Given the description of an element on the screen output the (x, y) to click on. 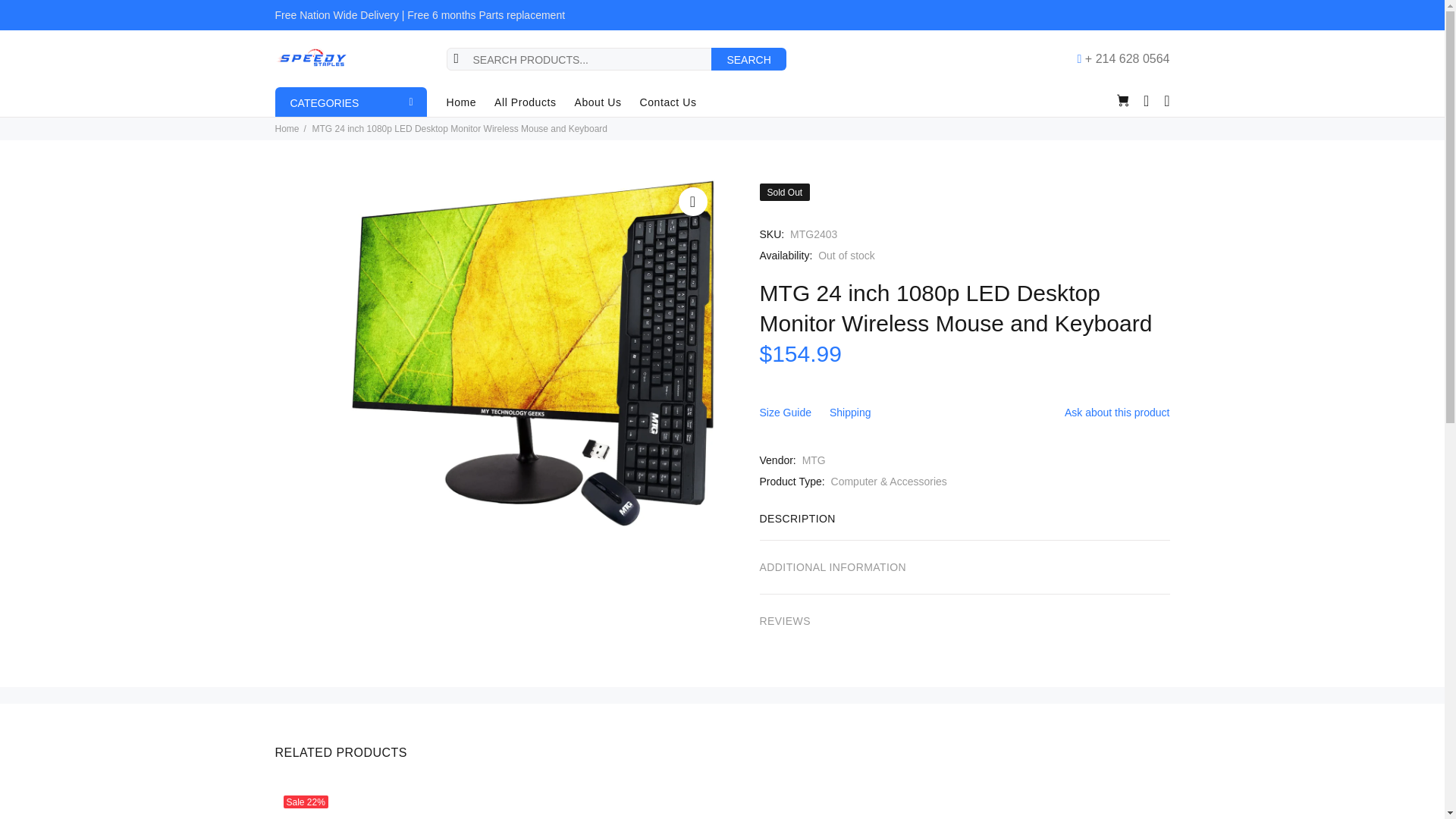
CATEGORIES (350, 101)
All Products (524, 101)
SEARCH (748, 57)
Home (464, 101)
